Given the description of an element on the screen output the (x, y) to click on. 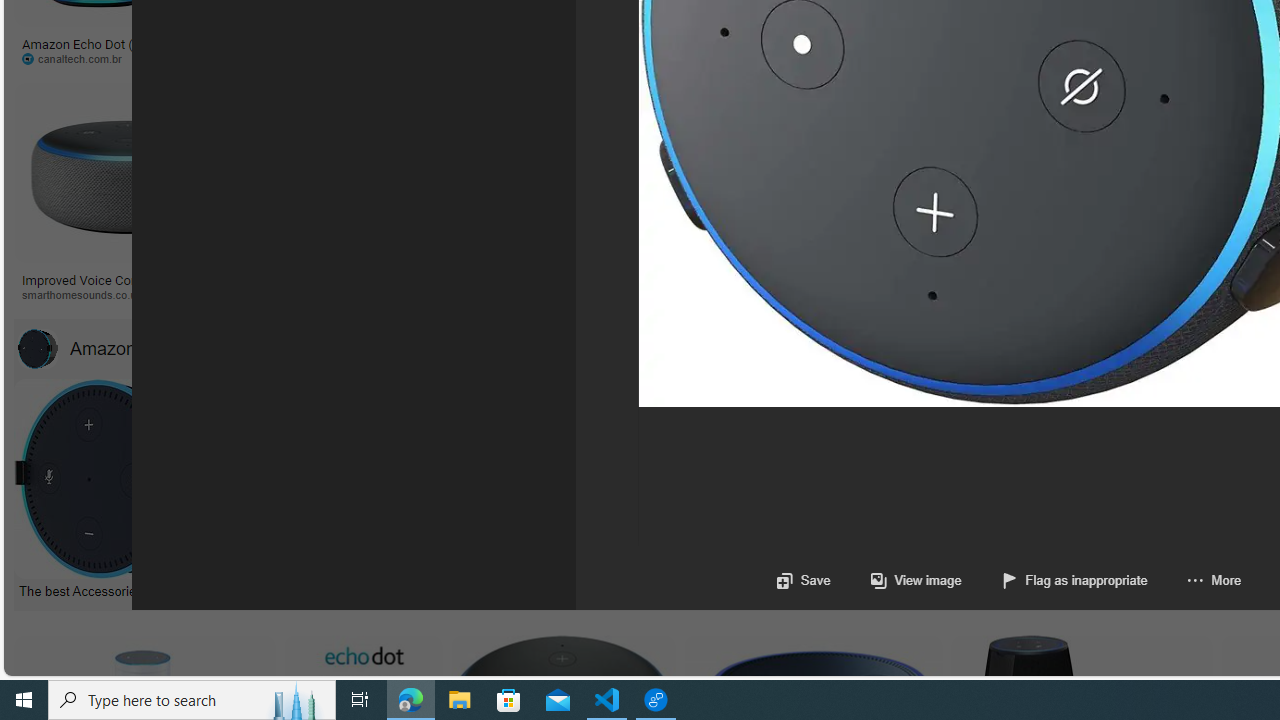
Android Central (726, 295)
mediamarkt.de (877, 294)
Flag as inappropriate (1074, 580)
Save (802, 580)
buynow.com.ec (1058, 57)
Android Central (697, 294)
Amazon Echo Dot Accessories (167, 348)
smarthomesounds.co.uk (128, 295)
croma.com (816, 57)
